Given the description of an element on the screen output the (x, y) to click on. 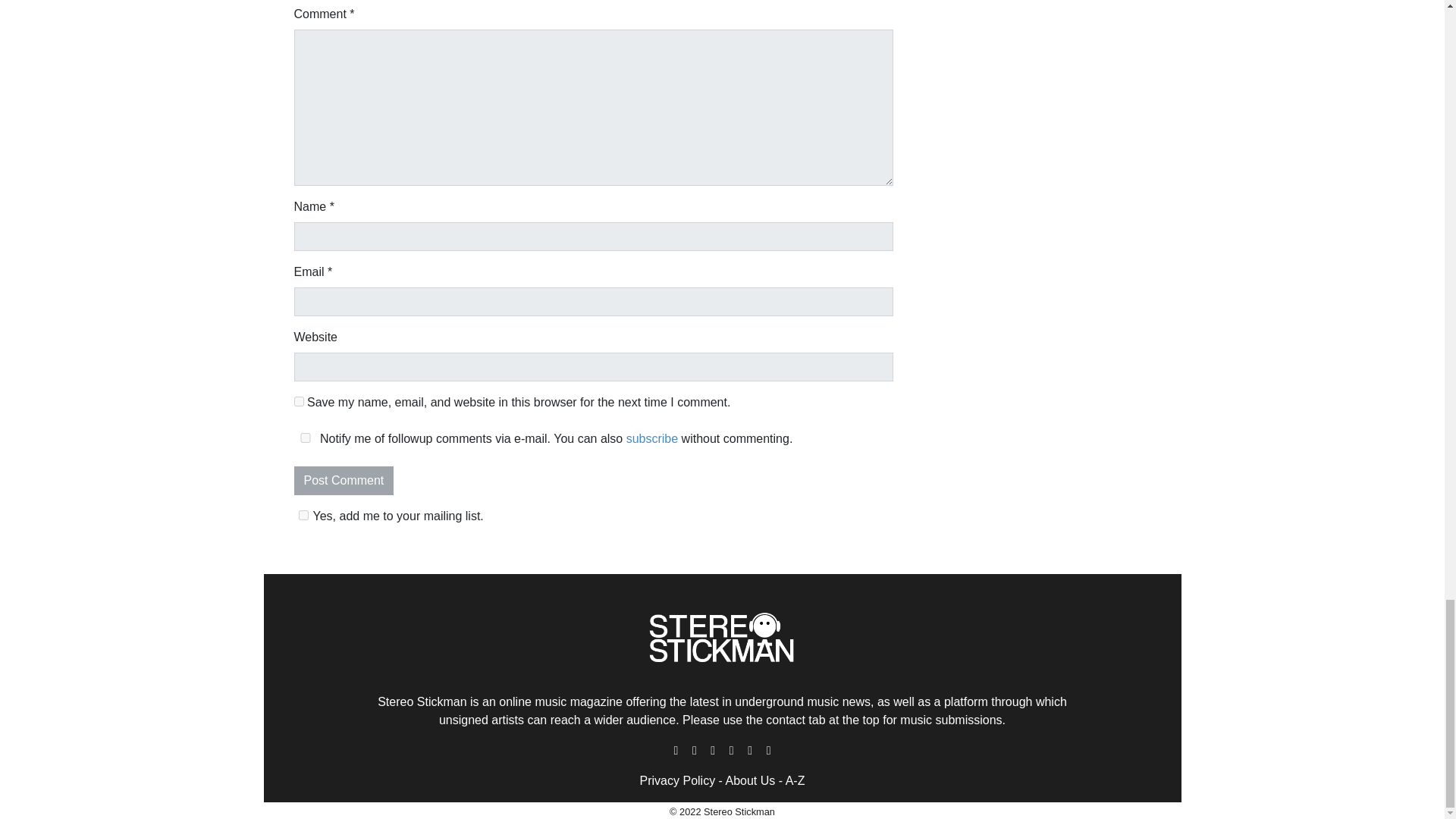
Post Comment (344, 480)
yes (299, 401)
yes (305, 438)
Post Comment (344, 480)
1 (303, 515)
subscribe (652, 438)
